Given the description of an element on the screen output the (x, y) to click on. 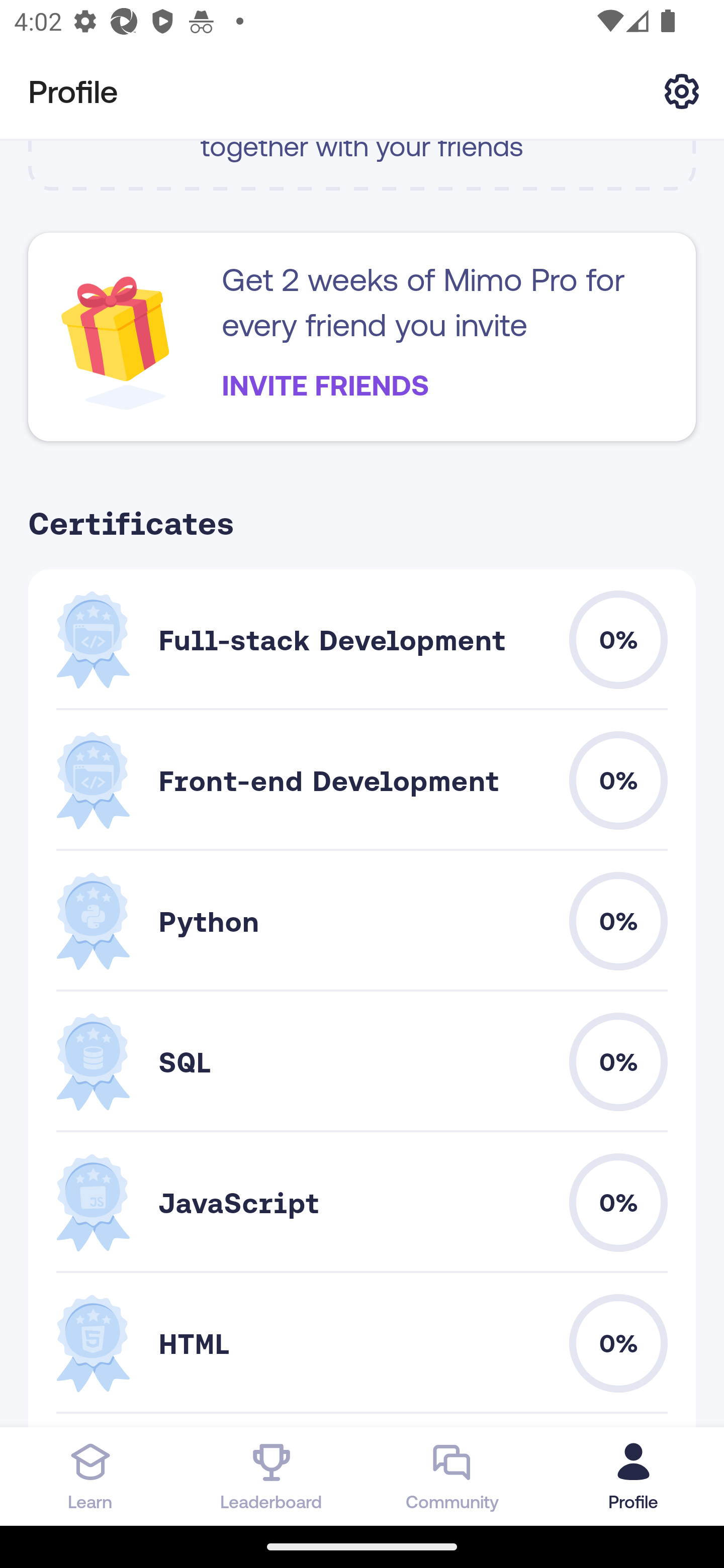
Settings (681, 90)
INVITE FRIENDS (325, 384)
Full-stack Development 0.0 0% (361, 639)
Front-end Development 0.0 0% (361, 780)
Python 0.0 0% (361, 920)
SQL 0.0 0% (361, 1061)
JavaScript 0.0 0% (361, 1202)
HTML 0.0 0% (361, 1343)
Learn (90, 1475)
Leaderboard (271, 1475)
Community (452, 1475)
